Given the description of an element on the screen output the (x, y) to click on. 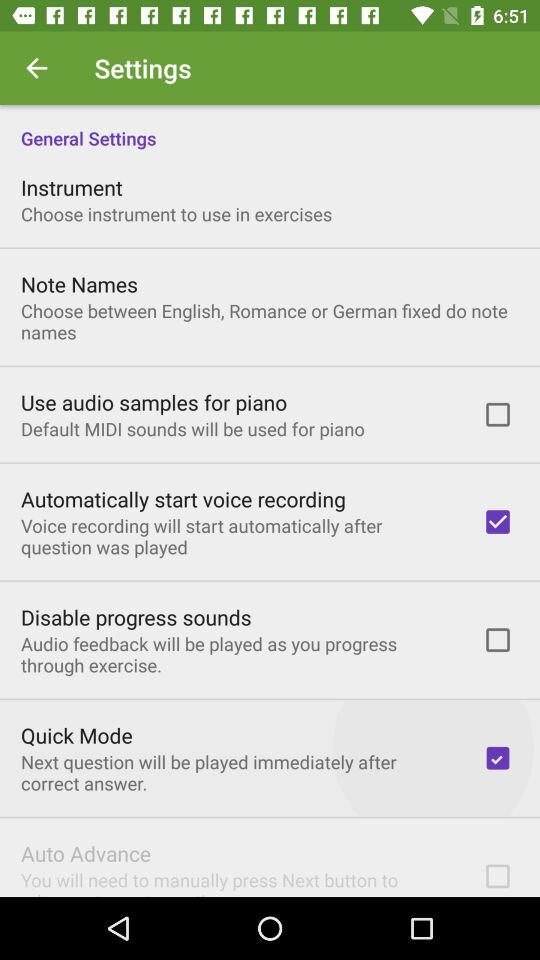
turn on icon below use audio samples icon (192, 428)
